Given the description of an element on the screen output the (x, y) to click on. 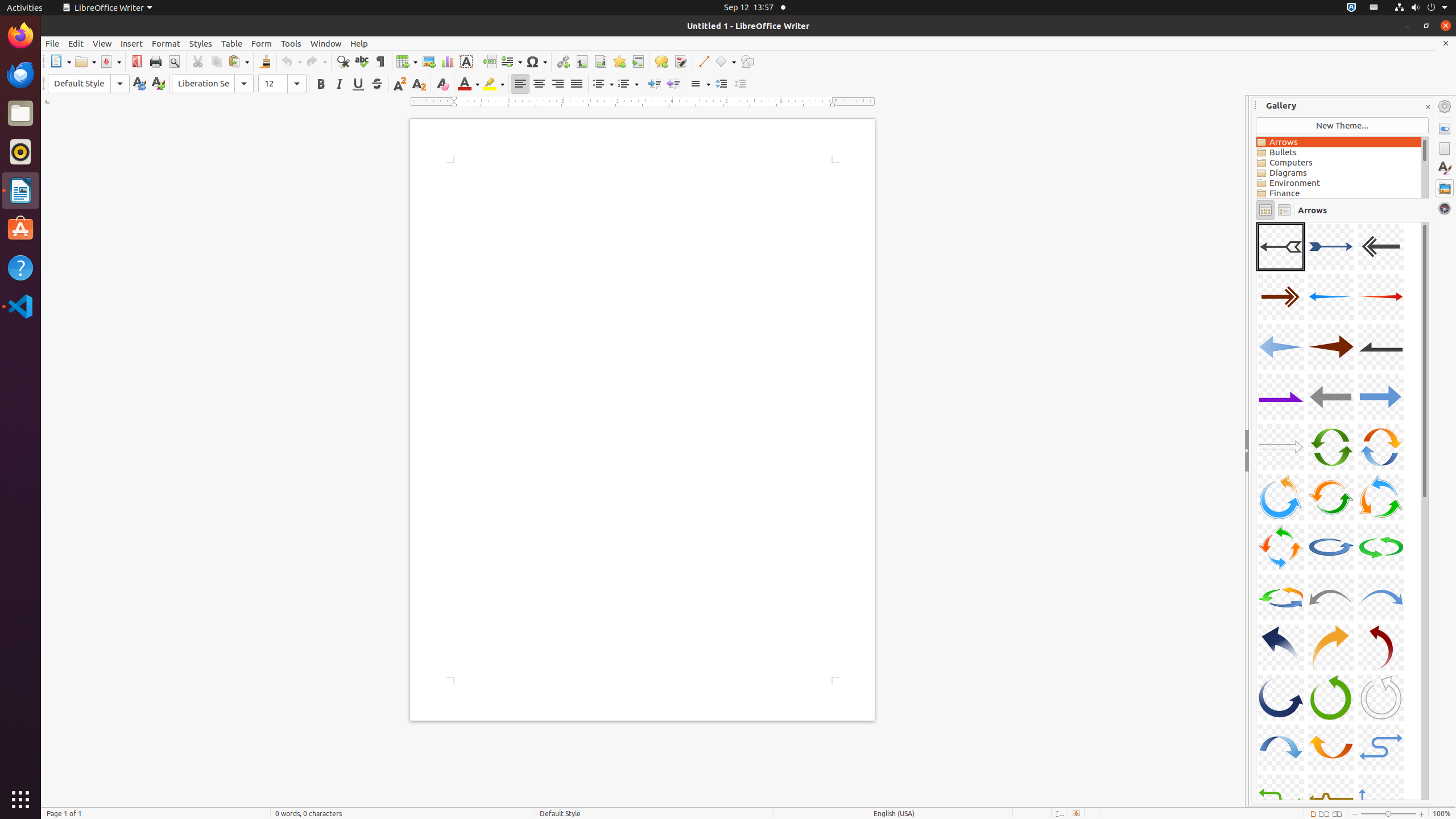
Font Name Element type: combo-box (212, 83)
Redo Element type: push-button (315, 61)
Form Element type: menu (261, 43)
Paste Element type: push-button (237, 61)
Numbering Element type: push-button (627, 83)
